Given the description of an element on the screen output the (x, y) to click on. 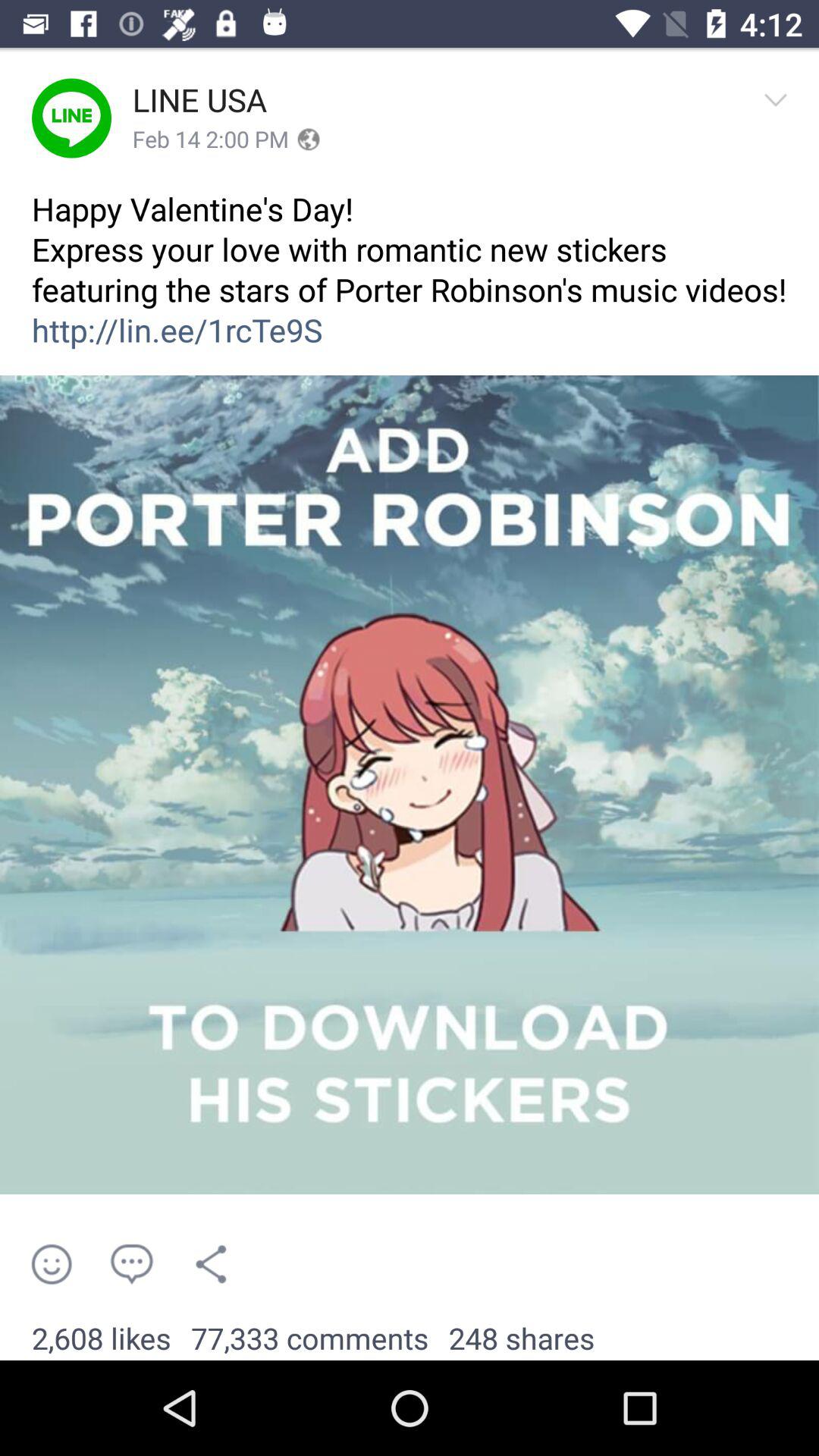
select the icon above happy valentine s icon (210, 139)
